Given the description of an element on the screen output the (x, y) to click on. 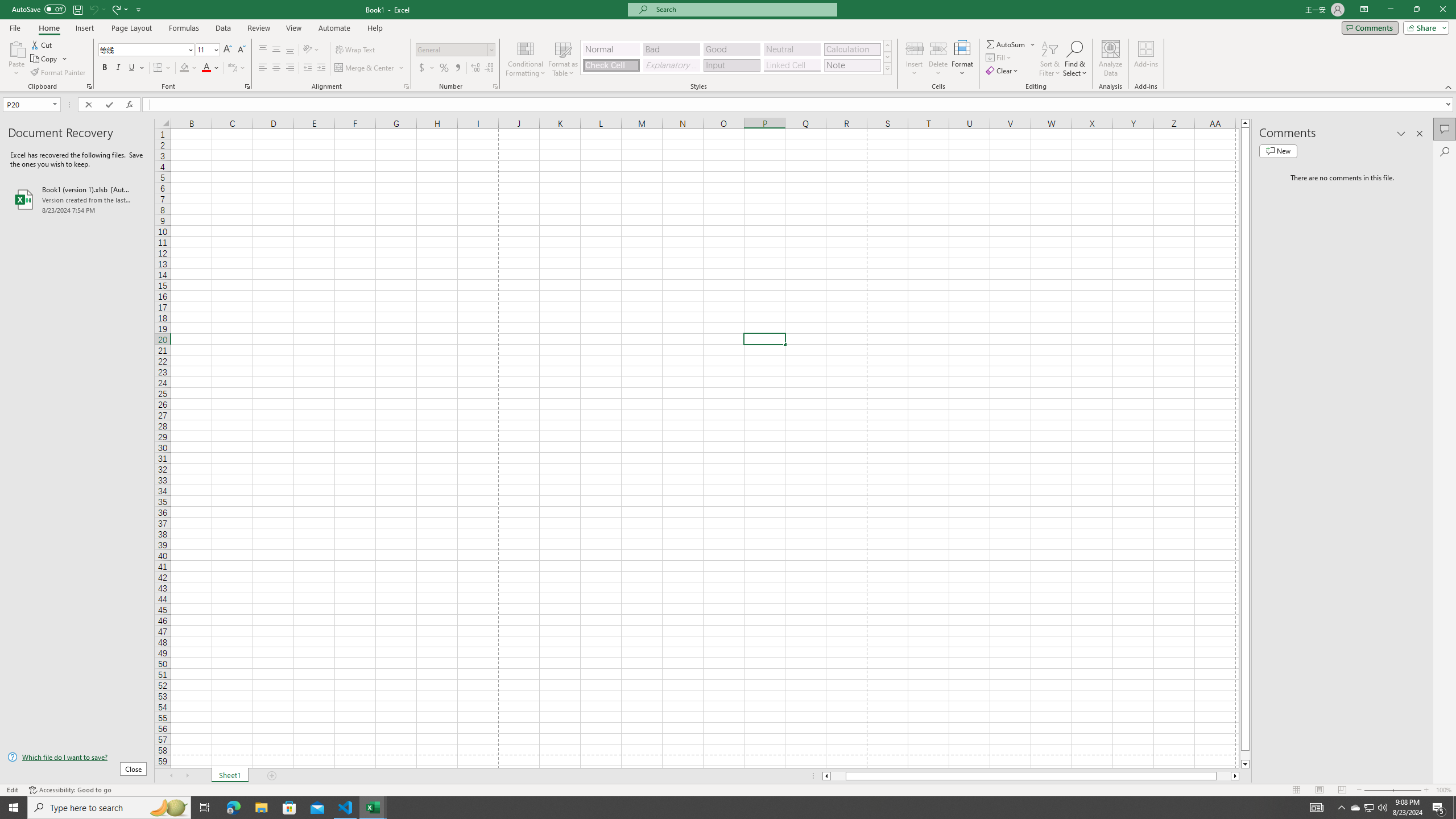
Close pane (1419, 133)
Font (147, 49)
Font Color RGB(255, 0, 0) (206, 67)
Format Cell Alignment (405, 85)
Quick Access Toolbar (77, 9)
Font Color (210, 67)
Bottom Border (157, 67)
Add Sheet (272, 775)
Redo (115, 9)
Search (1444, 151)
Explanatory Text (671, 65)
Font Size (204, 49)
Task Pane Options (1400, 133)
Paste (16, 58)
